Given the description of an element on the screen output the (x, y) to click on. 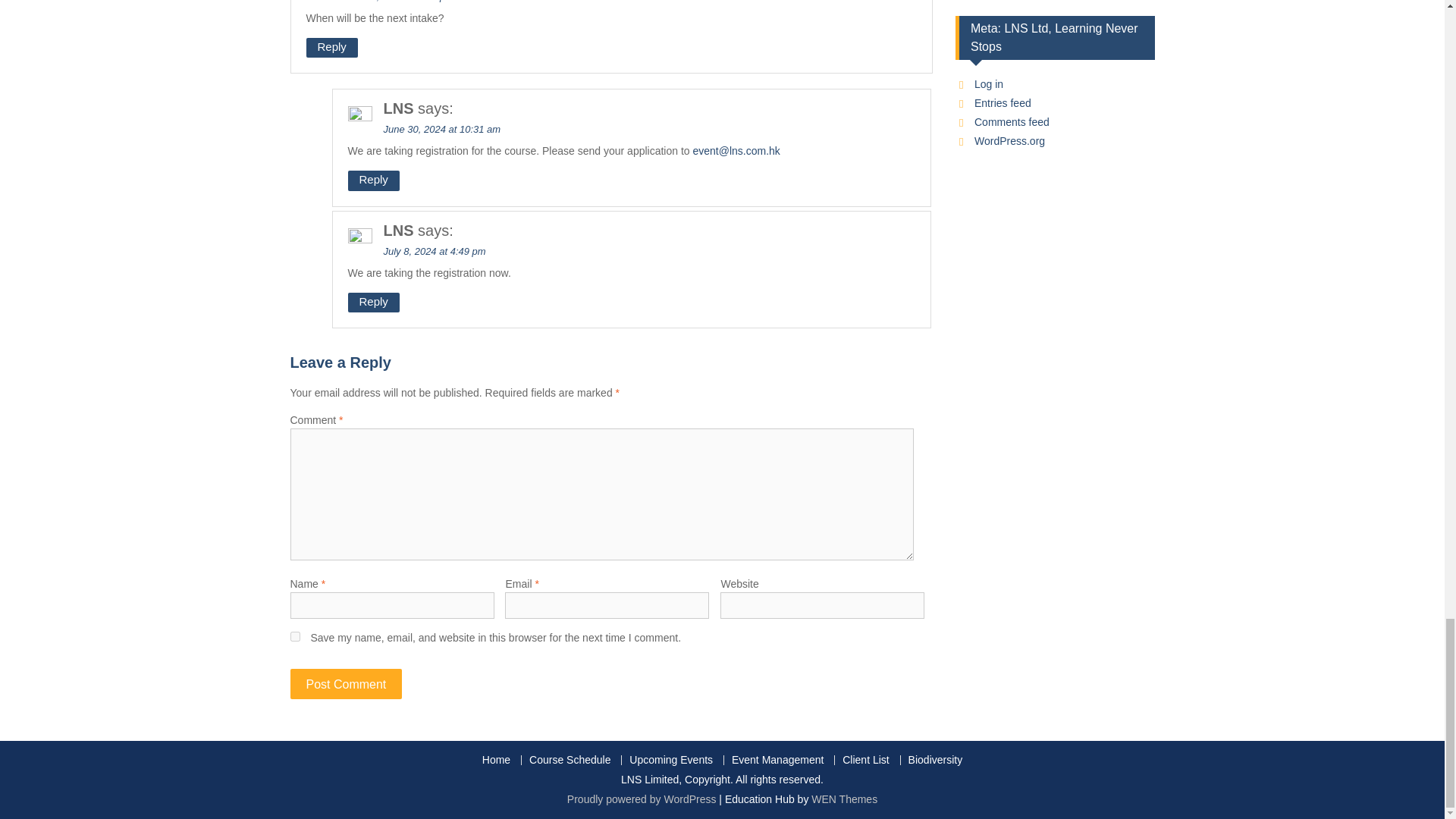
Post Comment (345, 684)
yes (294, 636)
